Given the description of an element on the screen output the (x, y) to click on. 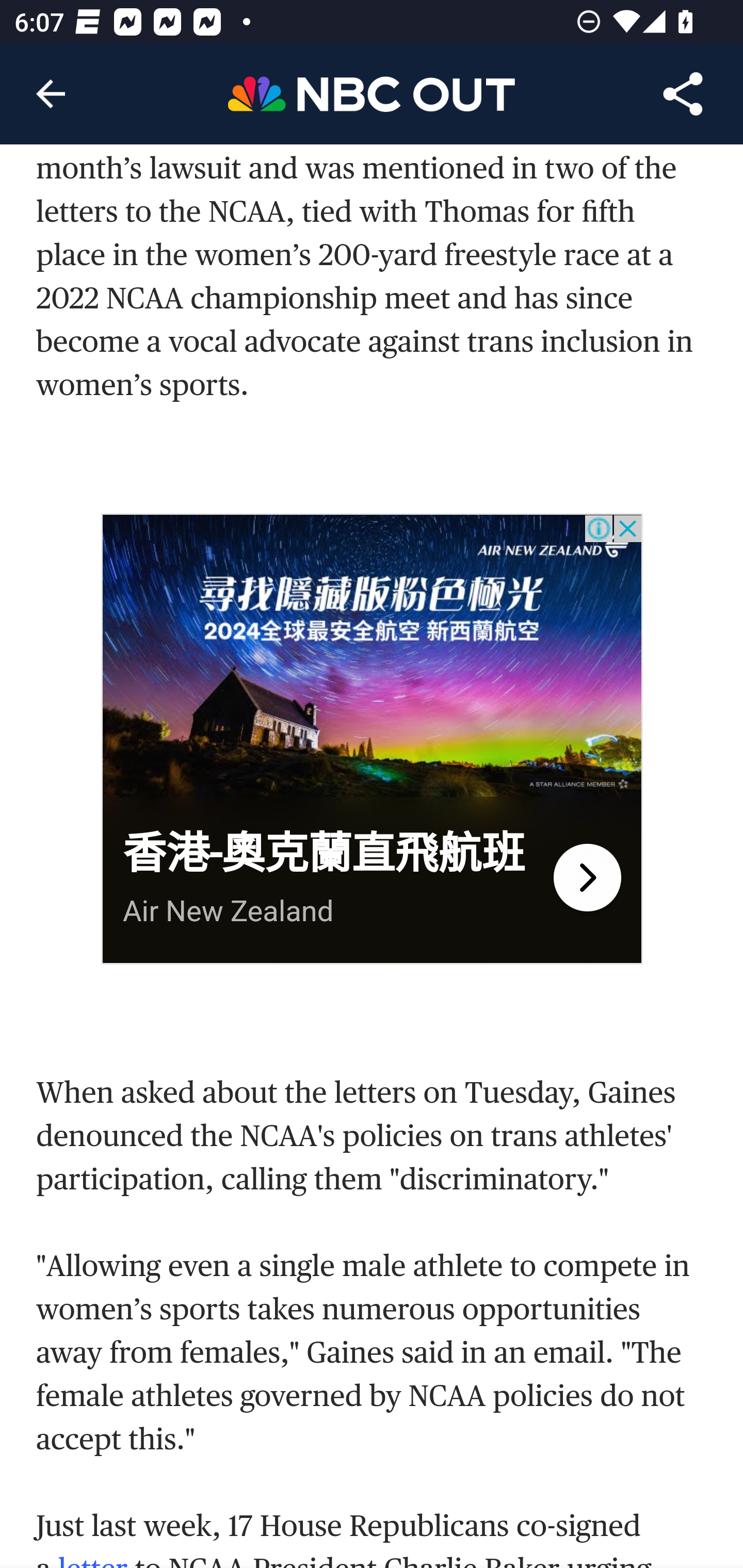
Navigate up (50, 93)
Share Article, button (683, 94)
Header, NBC Out (371, 93)
香港-奧克蘭直飛航班 (323, 854)
Air New Zealand (227, 911)
